Given the description of an element on the screen output the (x, y) to click on. 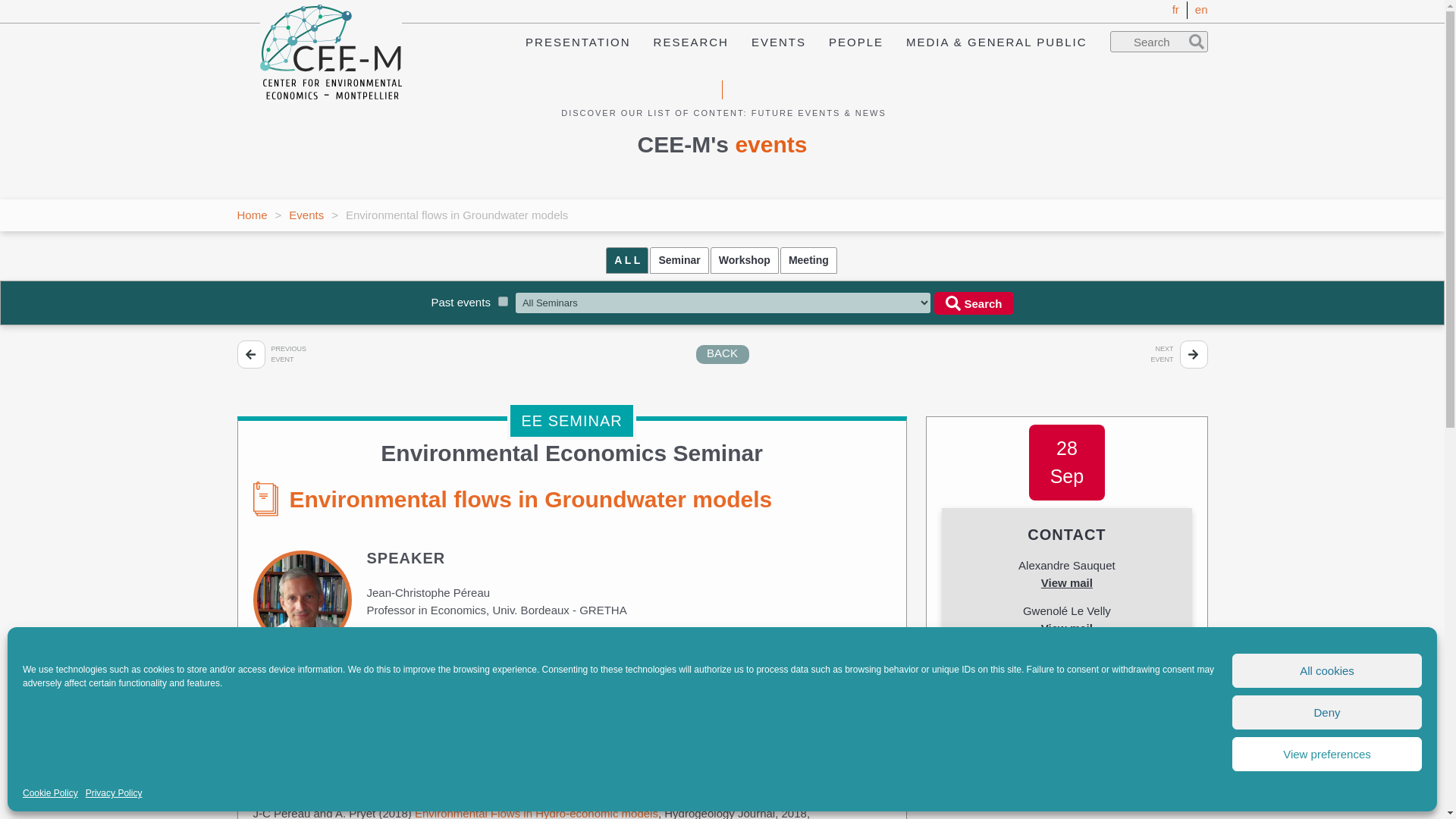
BACK (722, 353)
Website (571, 648)
Sweet child of mine: income shocks, health and inequality (249, 354)
Cookie Policy (50, 793)
en (1201, 9)
Home (250, 214)
All cookies (1326, 670)
Privacy Policy (113, 793)
Events (305, 214)
PEOPLE (855, 41)
